Given the description of an element on the screen output the (x, y) to click on. 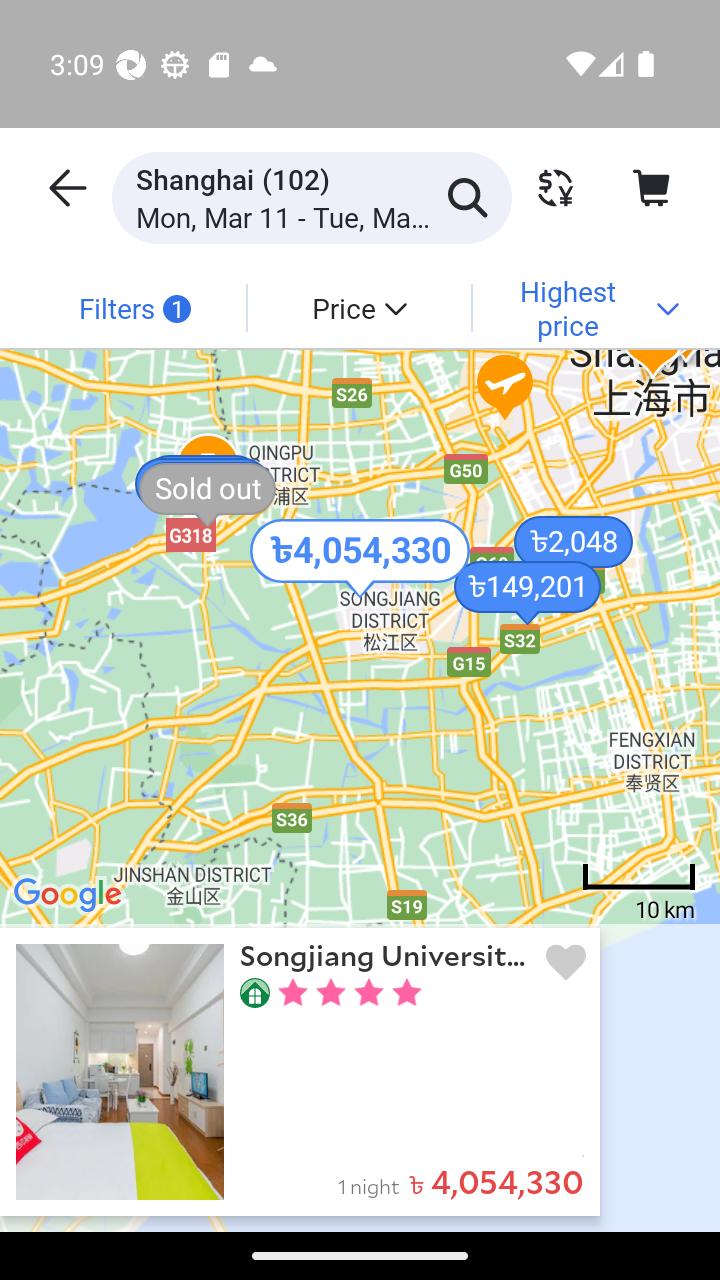
Filters 1 (134, 307)
Price (358, 307)
Highest price (584, 307)
